Given the description of an element on the screen output the (x, y) to click on. 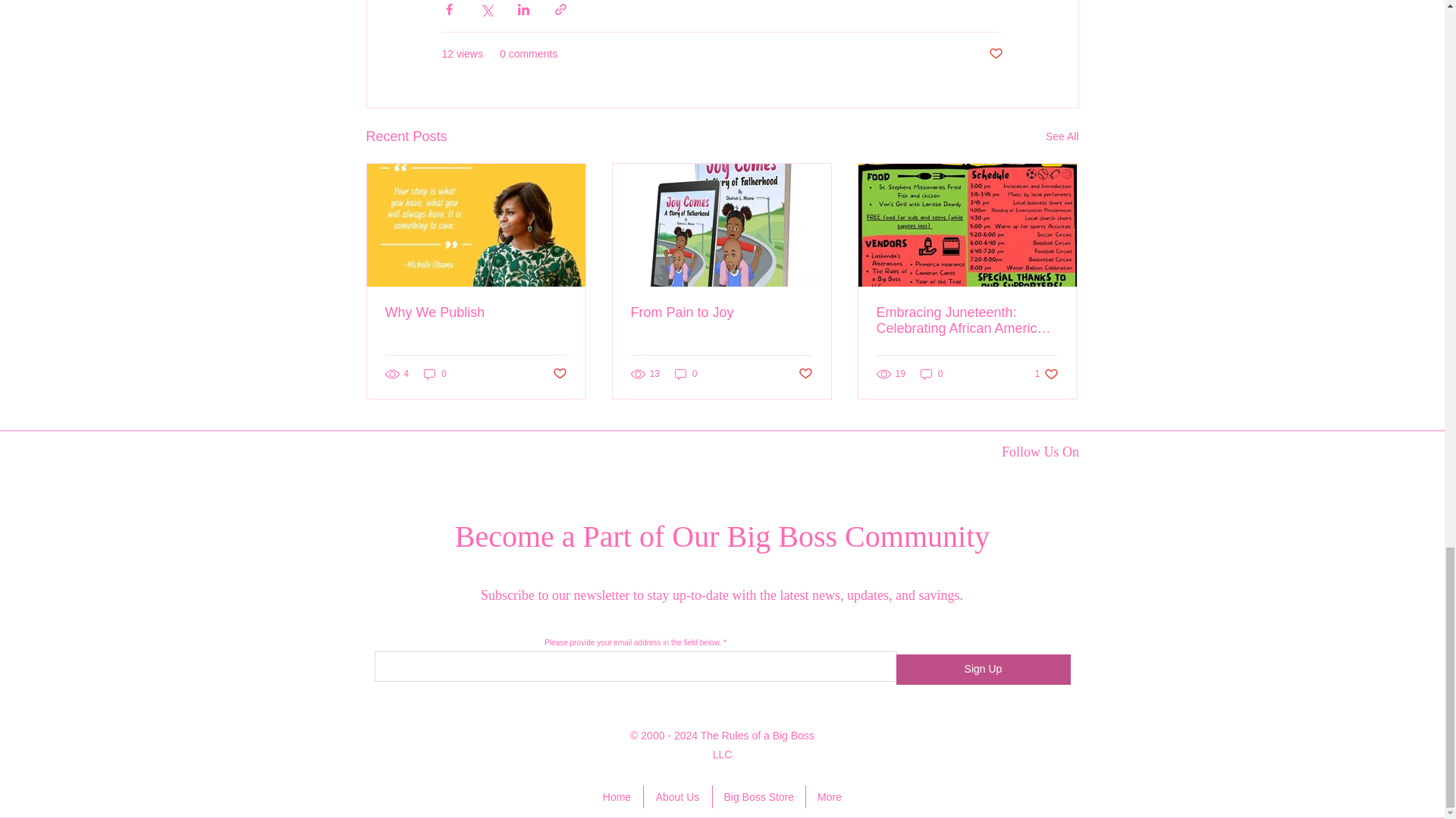
See All (1061, 137)
Why We Publish (476, 312)
Post not marked as liked (995, 53)
